Given the description of an element on the screen output the (x, y) to click on. 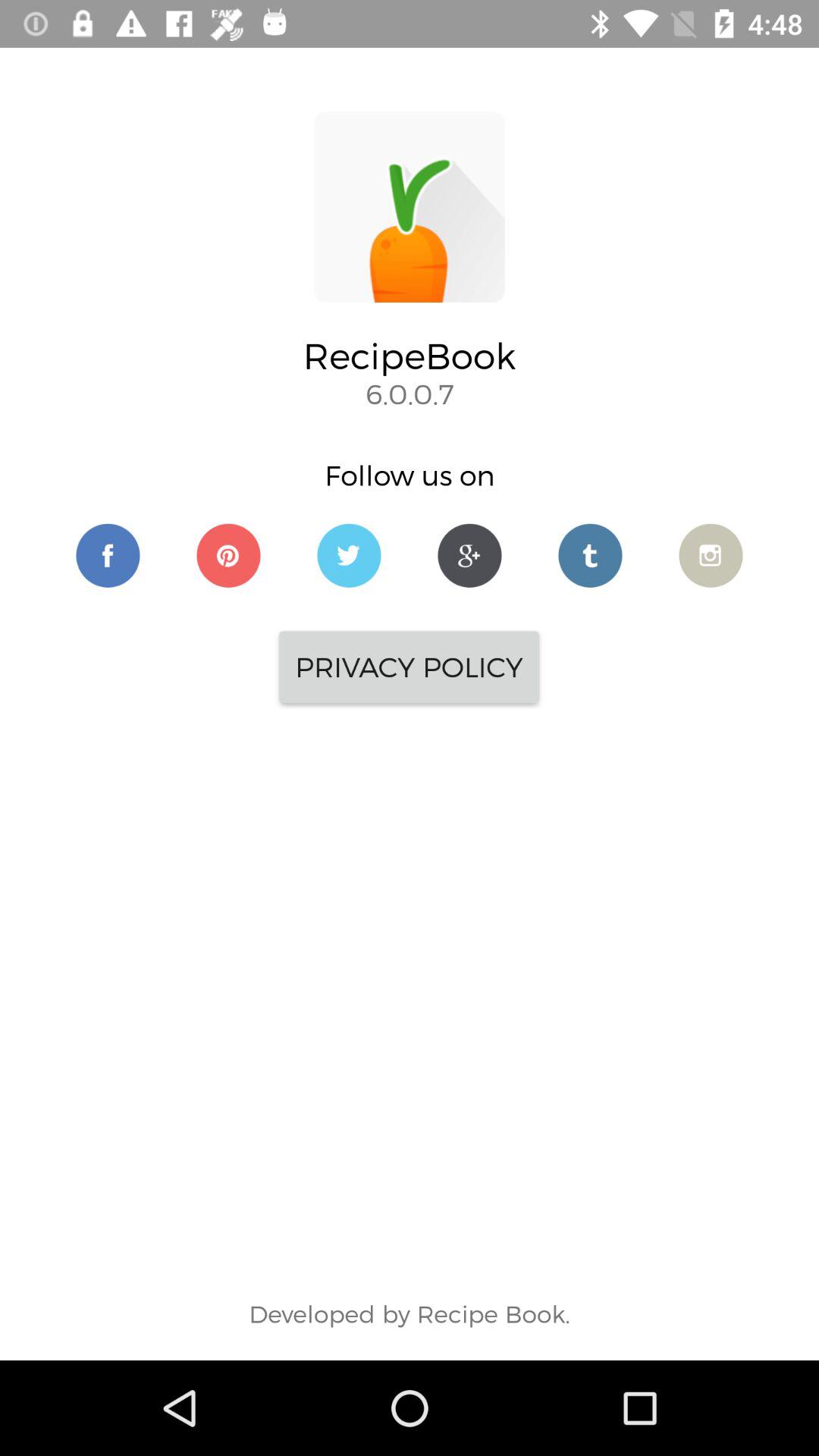
social media tumbler link (590, 555)
